Given the description of an element on the screen output the (x, y) to click on. 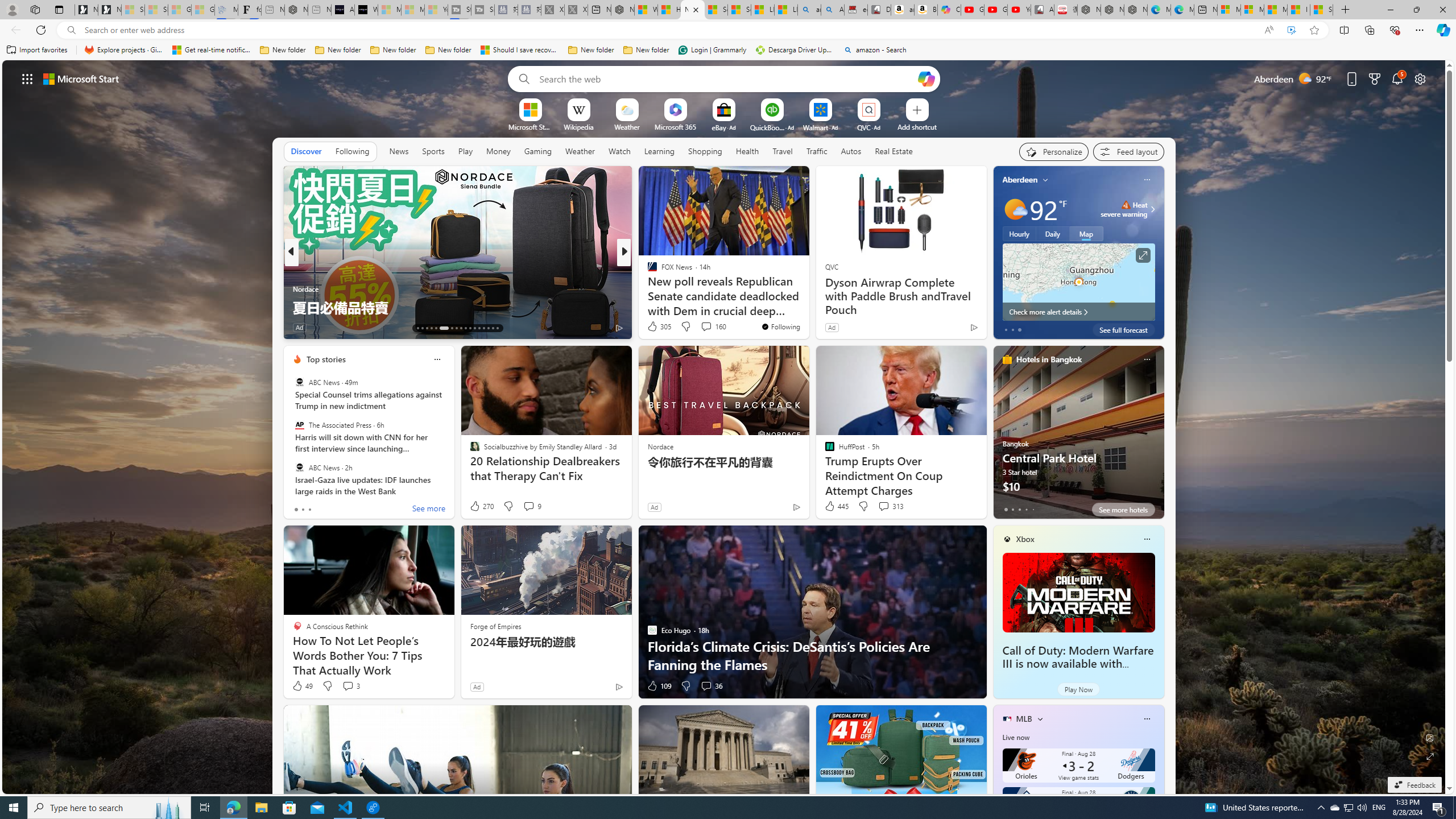
Gaming (537, 151)
Microsoft Start - Sleeping (412, 9)
Learning (658, 151)
Wildlife - MSN (645, 9)
View comments 313 Comment (890, 505)
amazon - Search (809, 9)
Discover (306, 151)
270 Like (480, 505)
98 Like (652, 327)
Watch (619, 151)
Newsletter Sign Up (109, 9)
Should I save recovered Word documents? - Microsoft Support (519, 49)
